Given the description of an element on the screen output the (x, y) to click on. 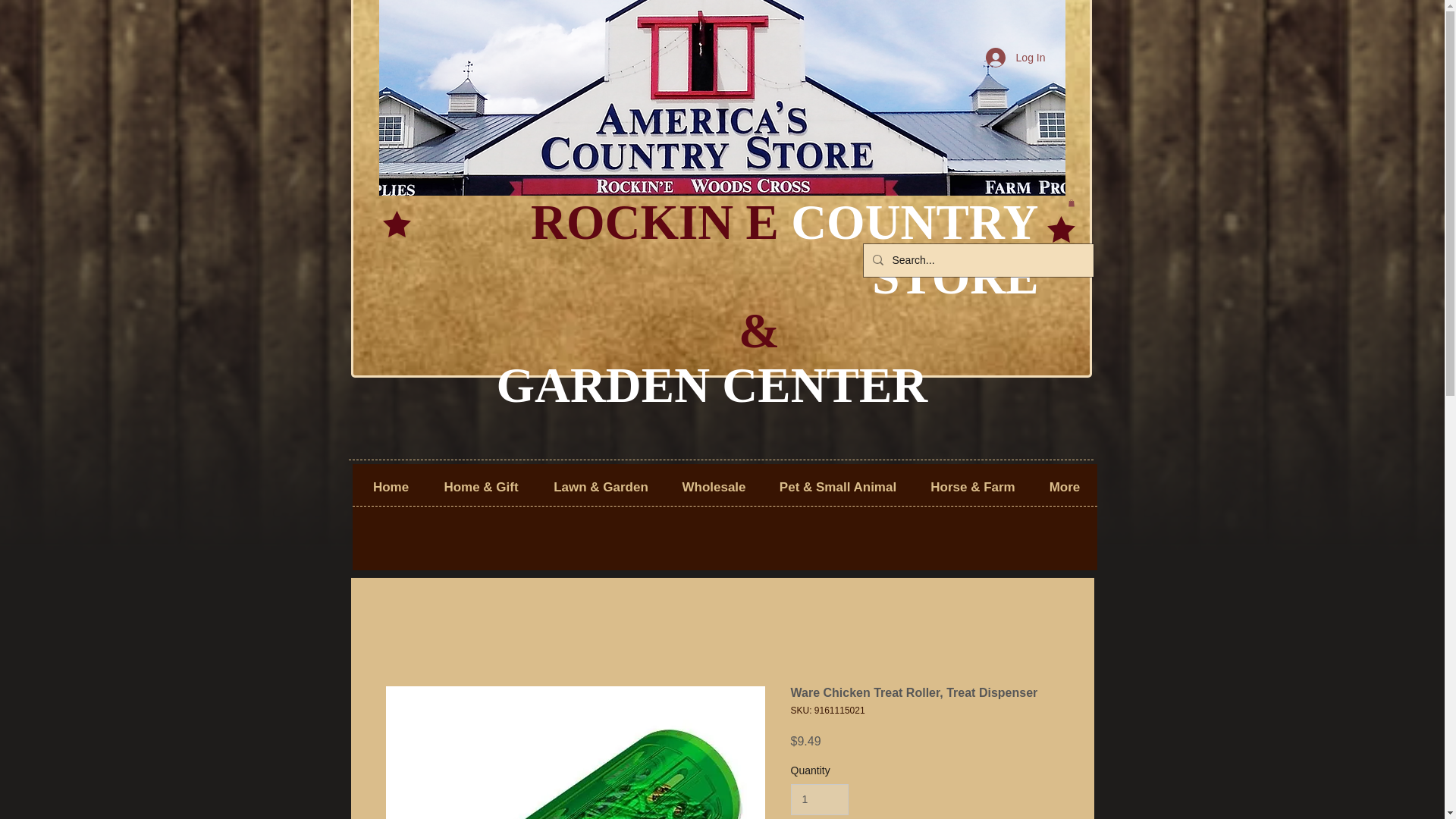
Wholesale (713, 487)
Home (391, 487)
Log In (1016, 57)
1 (818, 798)
